Given the description of an element on the screen output the (x, y) to click on. 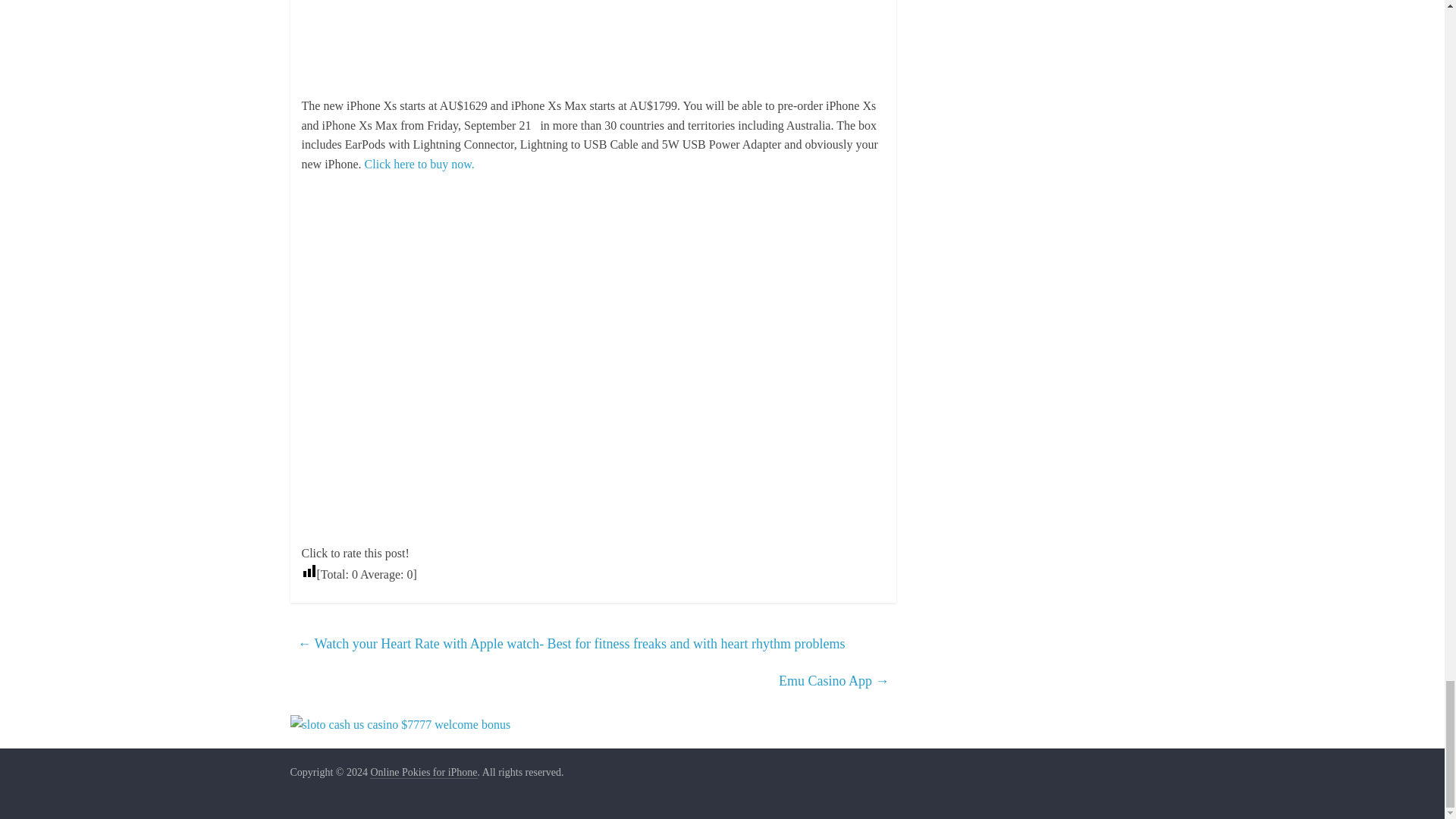
Online Pokies for iPhone (423, 772)
Online Pokies for iPhone (423, 772)
Click here to buy now. (419, 164)
